Given the description of an element on the screen output the (x, y) to click on. 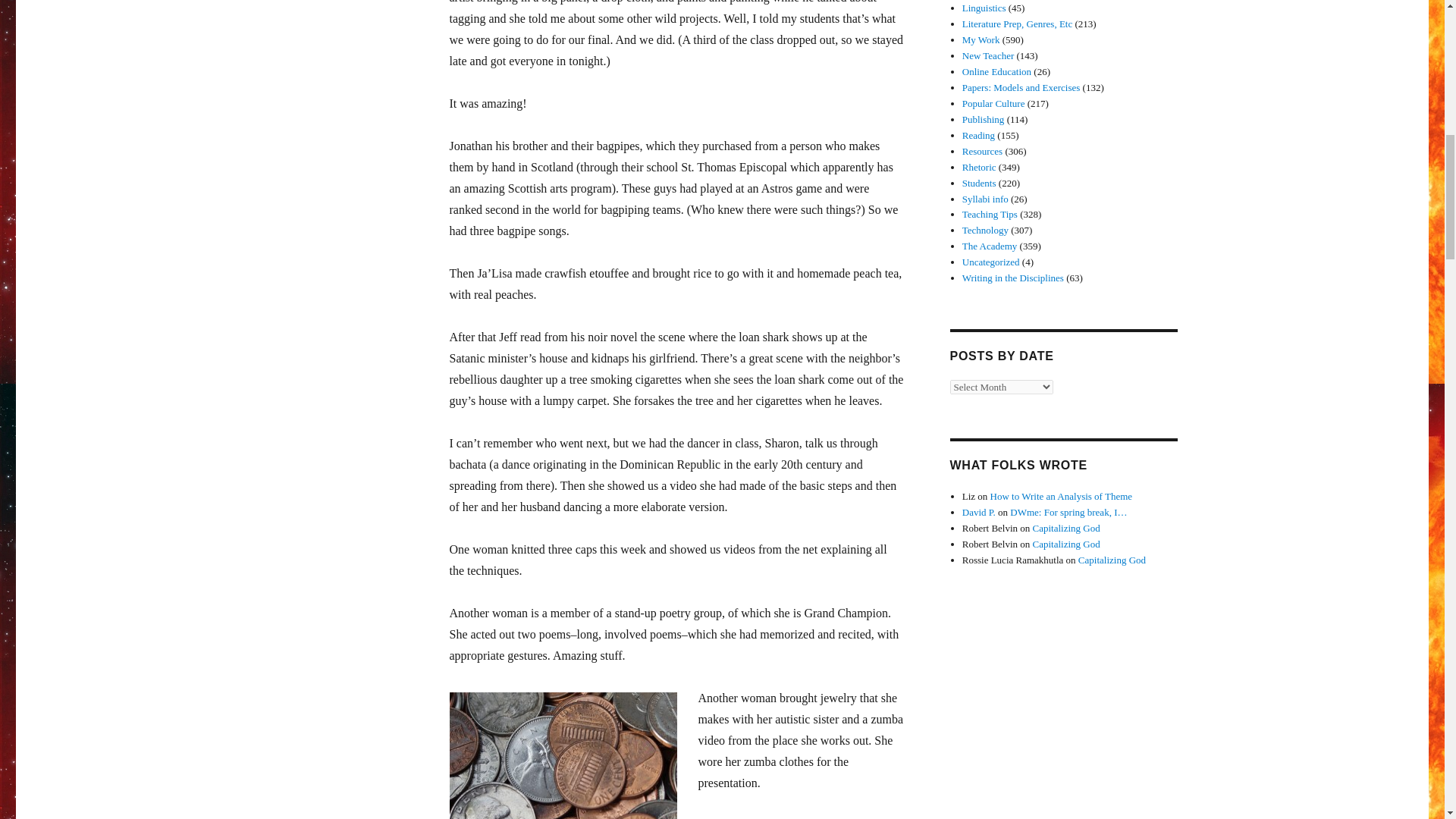
Linguistics (984, 7)
My Work (981, 39)
money change 2 (562, 755)
Literature Prep, Genres, Etc (1016, 23)
